Given the description of an element on the screen output the (x, y) to click on. 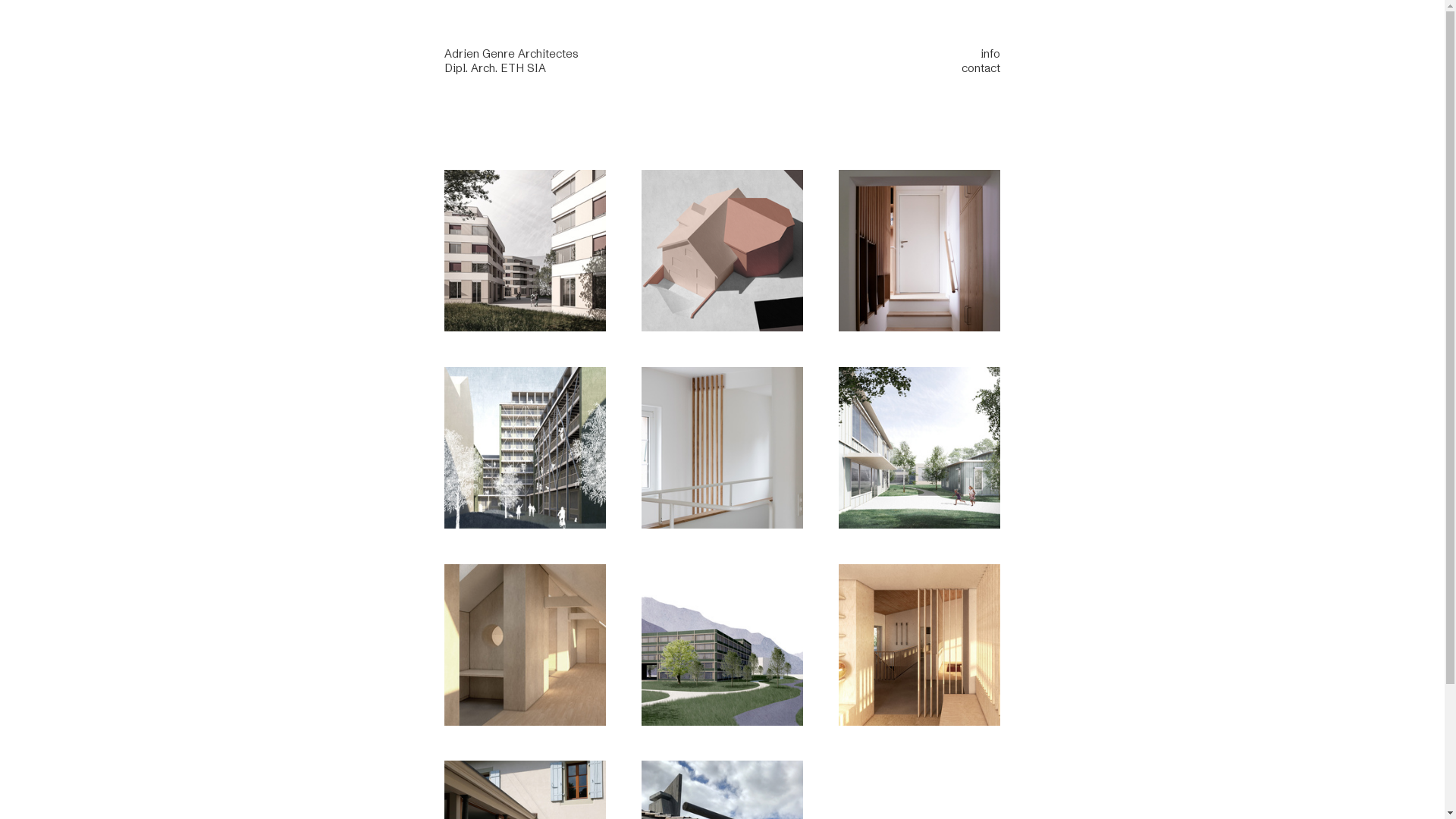
contact Element type: text (980, 68)
info Element type: text (990, 54)
Adrien Genre Architectes
Dipl. Arch. ETH Element type: text (511, 61)
SIA Element type: text (536, 68)
